Given the description of an element on the screen output the (x, y) to click on. 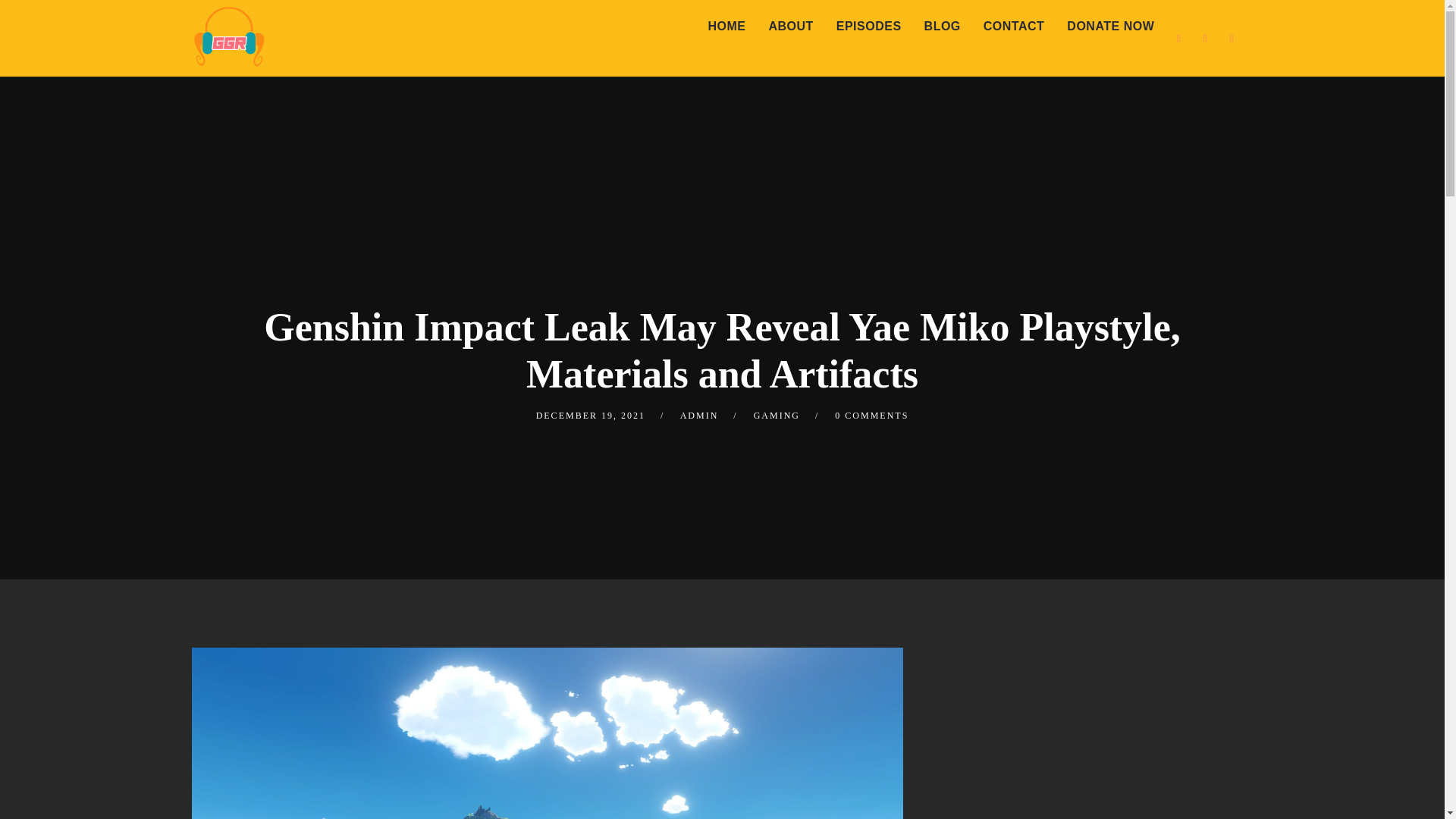
HOME (726, 26)
DONATE NOW (1110, 26)
CONTACT (1014, 26)
ADMIN (699, 415)
GAMING (776, 415)
ABOUT (790, 26)
BLOG (942, 26)
EPISODES (868, 26)
0 COMMENTS (871, 415)
Submit (32, 22)
